Given the description of an element on the screen output the (x, y) to click on. 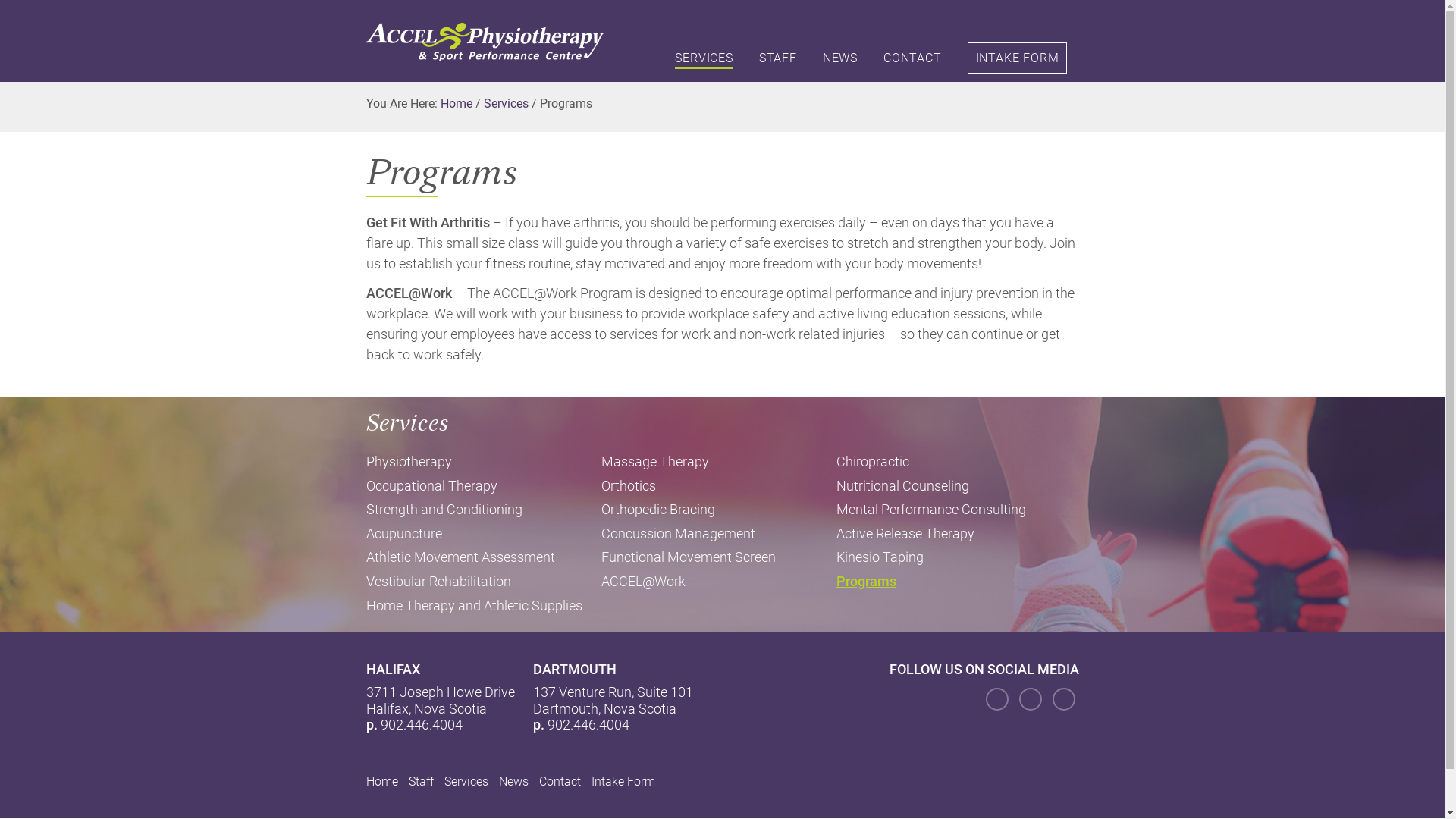
News Element type: text (513, 781)
Strength and Conditioning Element type: text (482, 509)
Services Element type: text (466, 781)
Services Element type: text (505, 103)
Occupational Therapy Element type: text (482, 485)
Home Therapy and Athletic Supplies Element type: text (482, 605)
ACCEL@Work Element type: text (718, 581)
Concussion Management Element type: text (718, 533)
Home Element type: text (455, 103)
Active Release Therapy Element type: text (953, 533)
Orthotics Element type: text (718, 485)
Kinesio Taping Element type: text (953, 557)
Nutritional Counseling Element type: text (953, 485)
Massage Therapy Element type: text (718, 461)
Vestibular Rehabilitation Element type: text (482, 581)
Orthopedic Bracing Element type: text (718, 509)
INTAKE FORM Element type: text (1017, 57)
NEWS Element type: text (839, 59)
Functional Movement Screen Element type: text (718, 557)
Staff Element type: text (420, 781)
Physiotherapy Element type: text (482, 461)
Chiropractic Element type: text (953, 461)
SERVICES Element type: text (703, 59)
Contact Element type: text (559, 781)
Mental Performance Consulting Element type: text (953, 509)
Programs Element type: text (953, 581)
Intake Form Element type: text (623, 781)
Home Element type: text (381, 781)
Athletic Movement Assessment Element type: text (482, 557)
CONTACT Element type: text (912, 59)
STAFF Element type: text (778, 59)
Acupuncture Element type: text (482, 533)
